Given the description of an element on the screen output the (x, y) to click on. 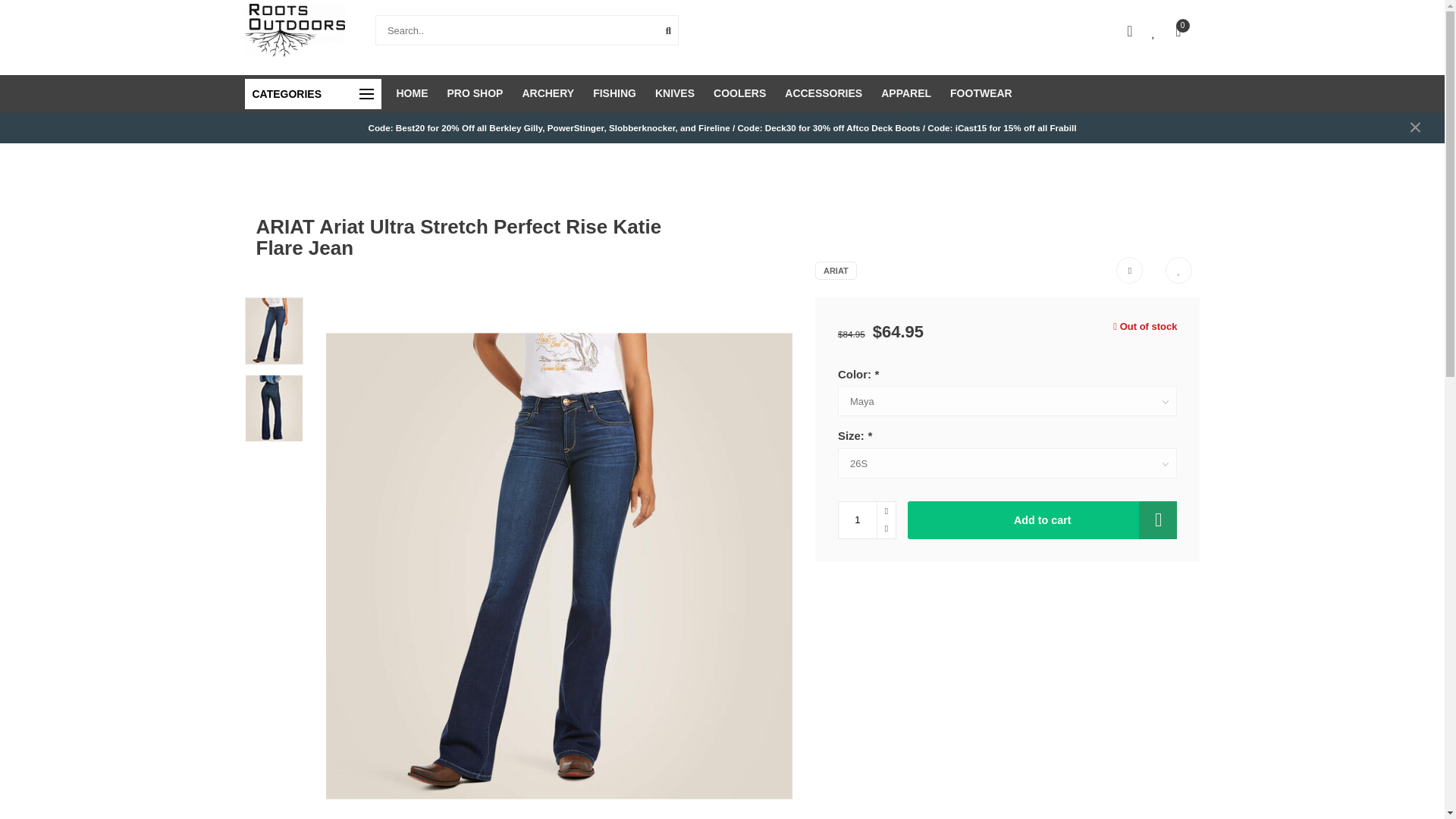
1 (866, 520)
